Given the description of an element on the screen output the (x, y) to click on. 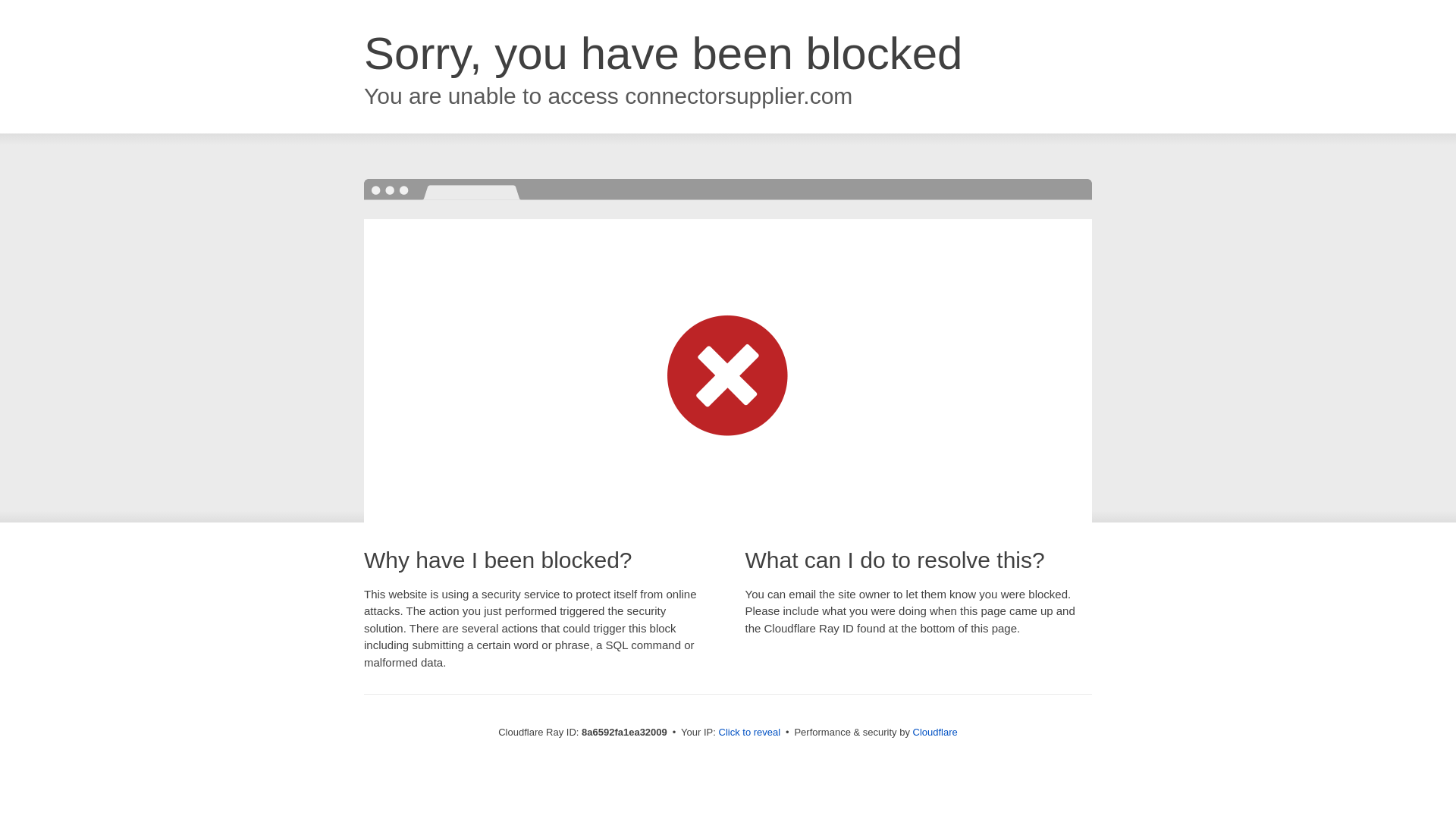
Cloudflare (935, 731)
Click to reveal (749, 732)
